Given the description of an element on the screen output the (x, y) to click on. 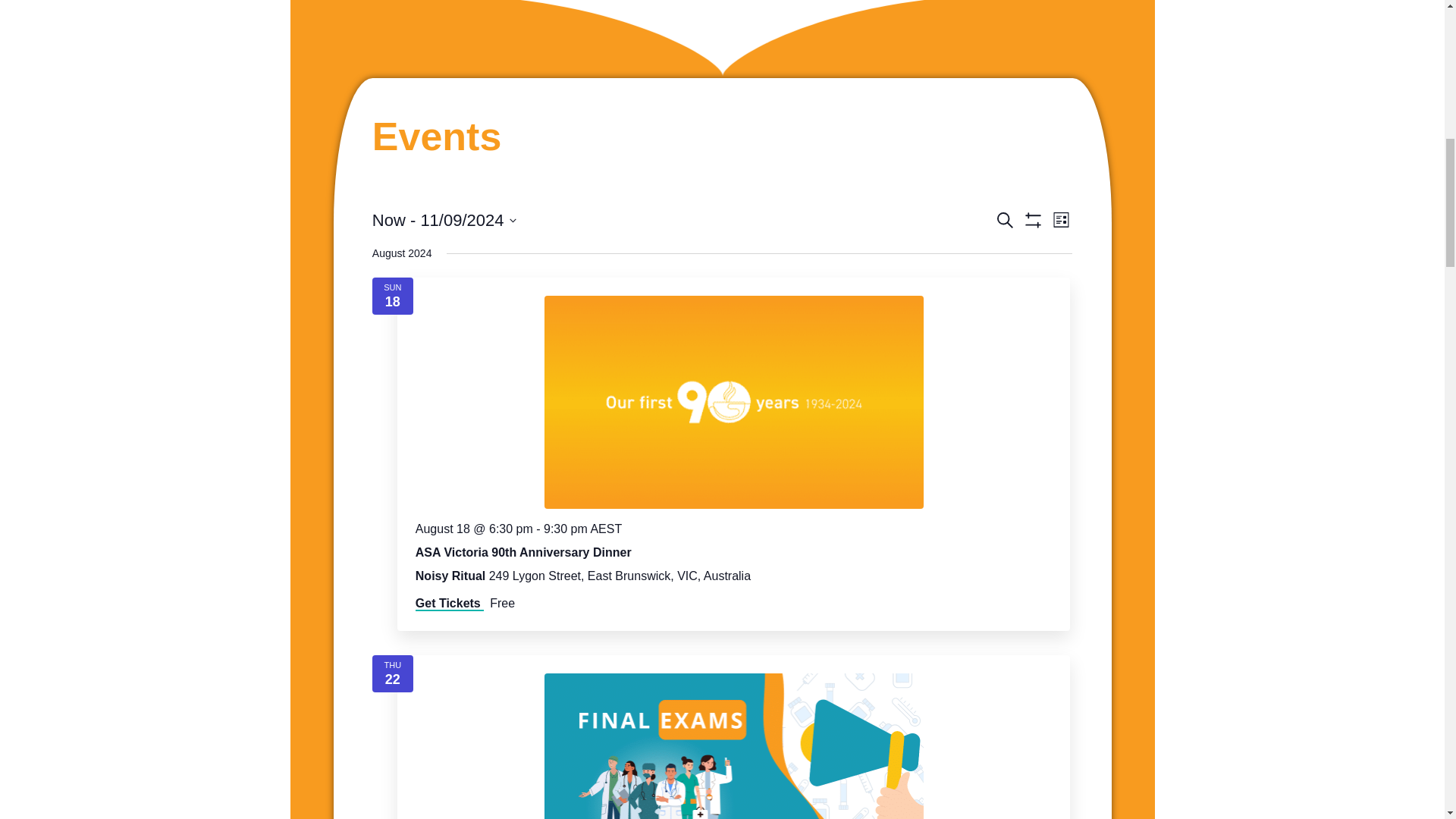
ASA Victoria 90th Anniversary Dinner (733, 401)
ASA Victoria 90th Anniversary Dinner (522, 552)
Click to toggle datepicker (444, 220)
